Given the description of an element on the screen output the (x, y) to click on. 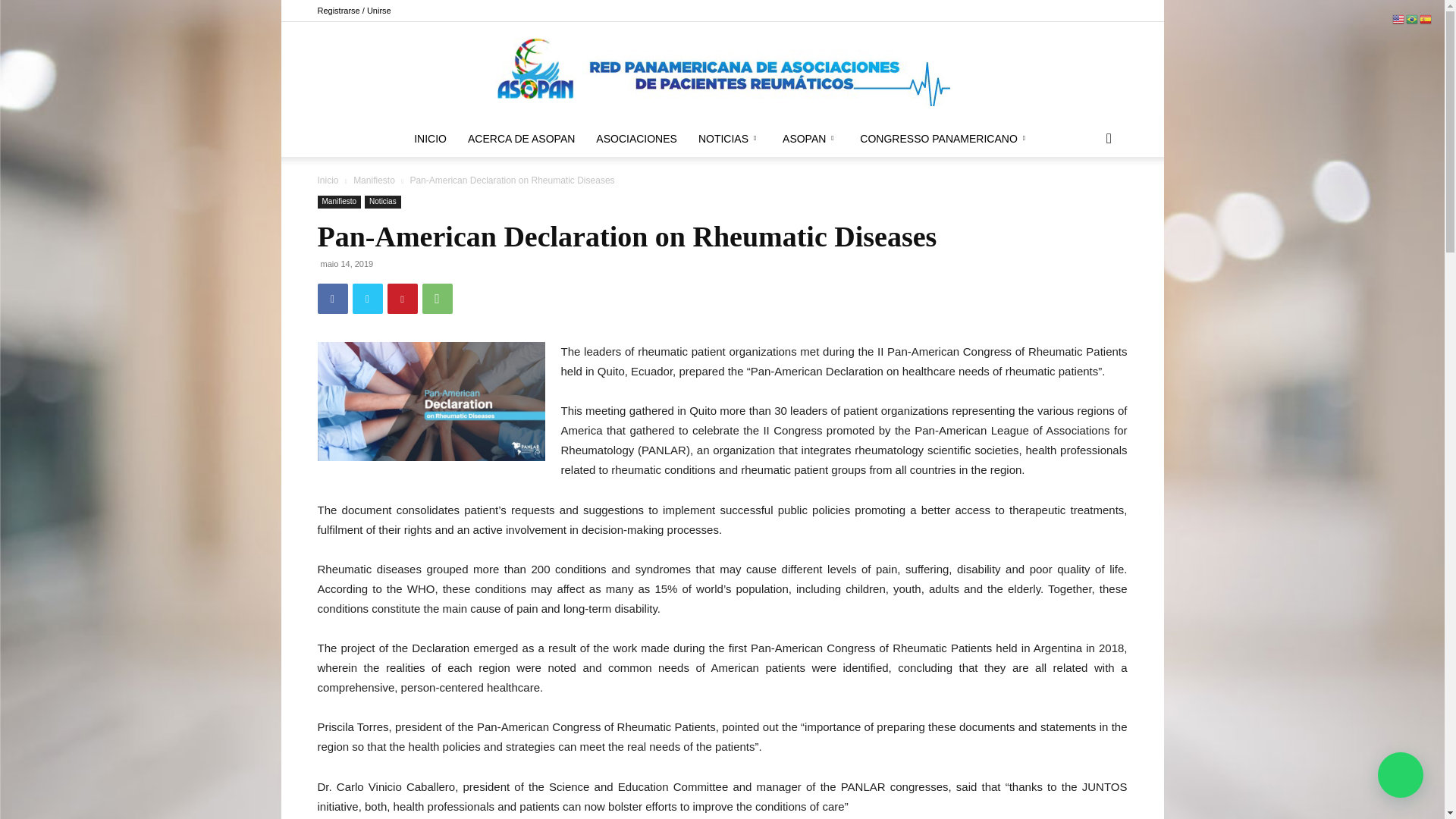
ACERCA DE ASOPAN (521, 138)
Youtube (1114, 10)
NOTICIAS (729, 138)
Instagram (1090, 10)
Facebook (1065, 10)
ASOCIACIONES (636, 138)
INICIO (430, 138)
